Given the description of an element on the screen output the (x, y) to click on. 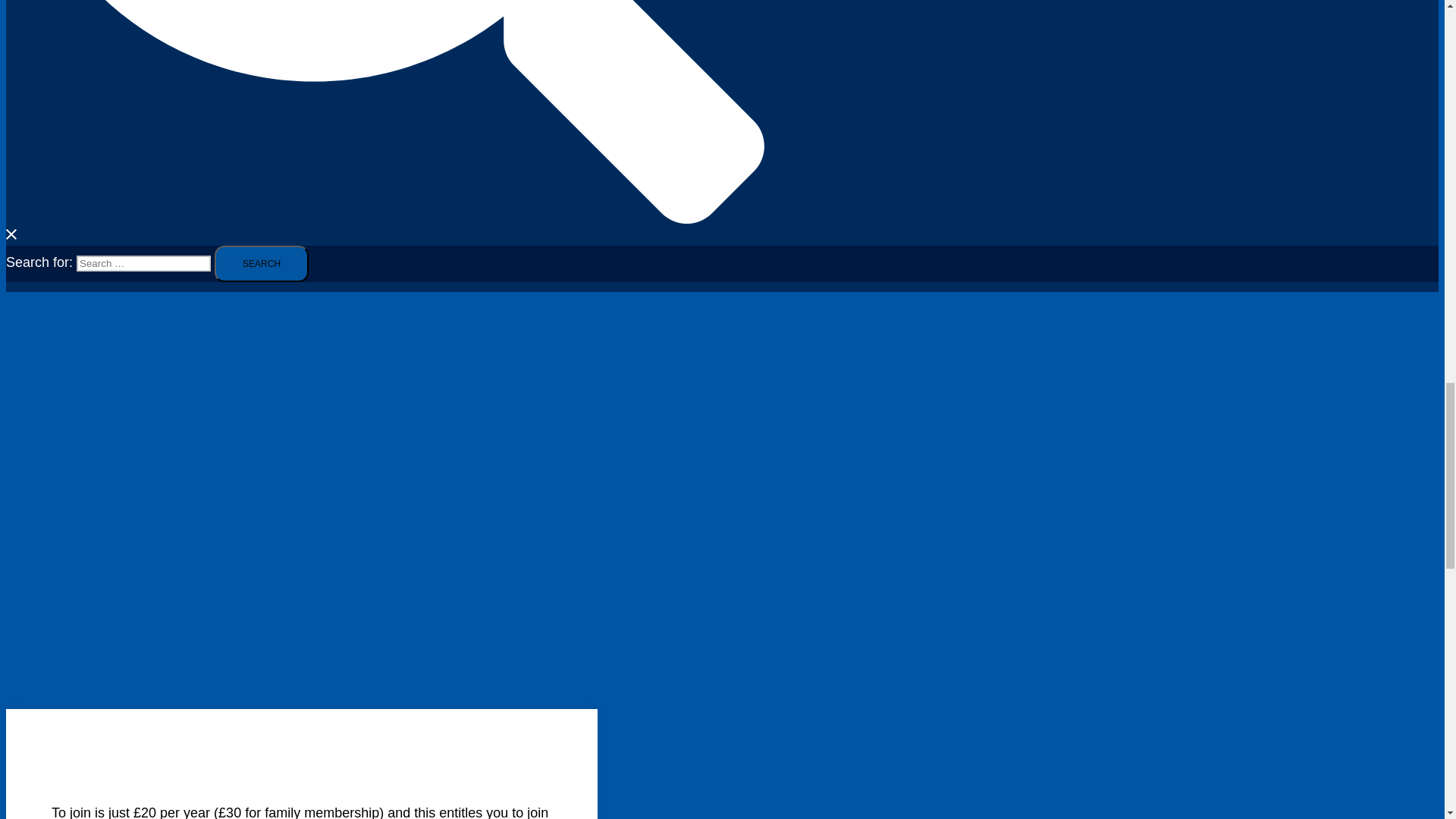
Search (261, 263)
Search (261, 263)
Search (261, 263)
